Given the description of an element on the screen output the (x, y) to click on. 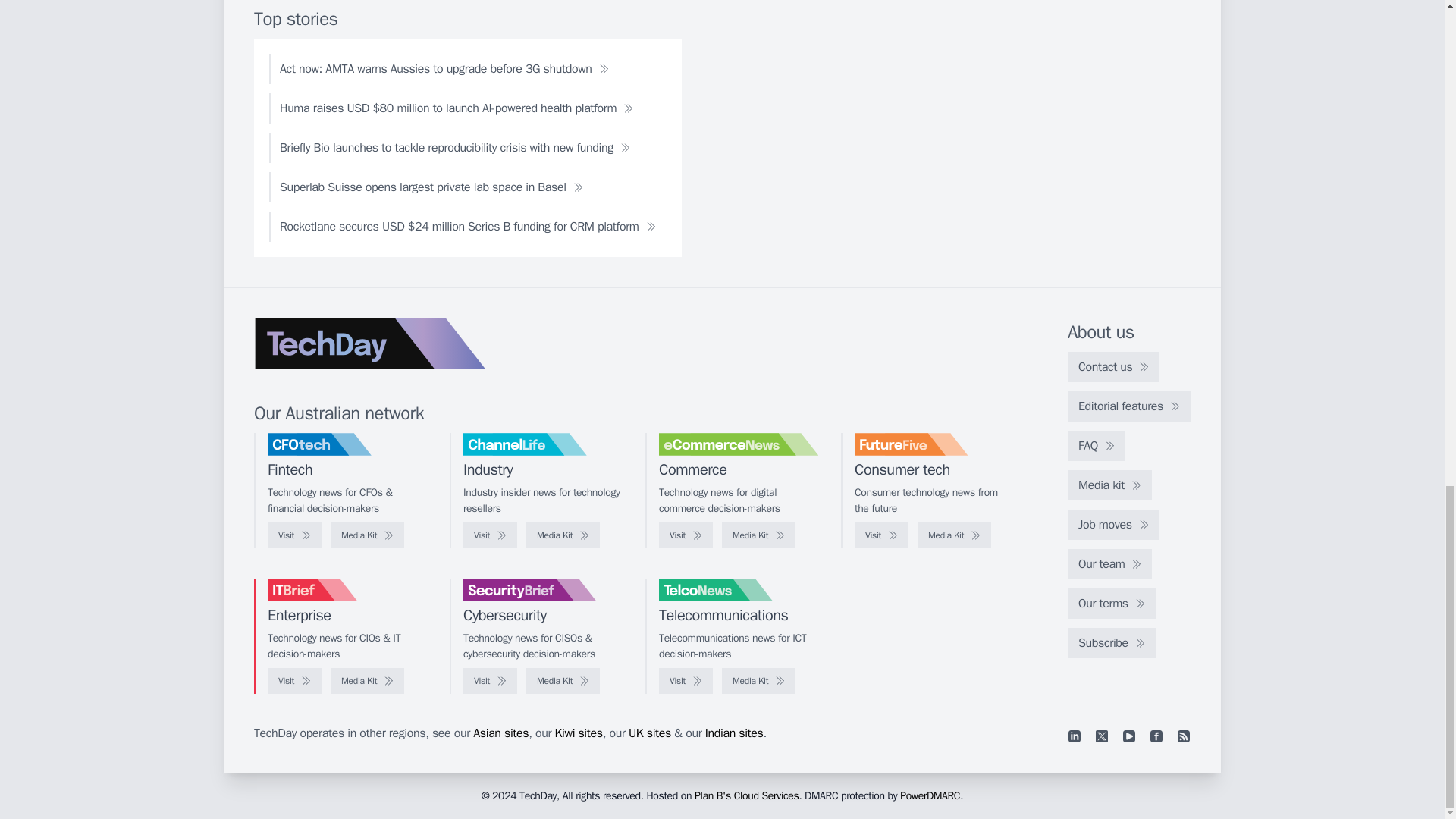
Visit (294, 680)
Media Kit (758, 534)
Visit (881, 534)
Act now: AMTA warns Aussies to upgrade before 3G shutdown (444, 69)
Visit (686, 534)
Media Kit (367, 680)
Superlab Suisse opens largest private lab space in Basel (431, 186)
Visit (294, 534)
Media Kit (954, 534)
Media Kit (367, 534)
Visit (489, 534)
Media Kit (562, 534)
